Given the description of an element on the screen output the (x, y) to click on. 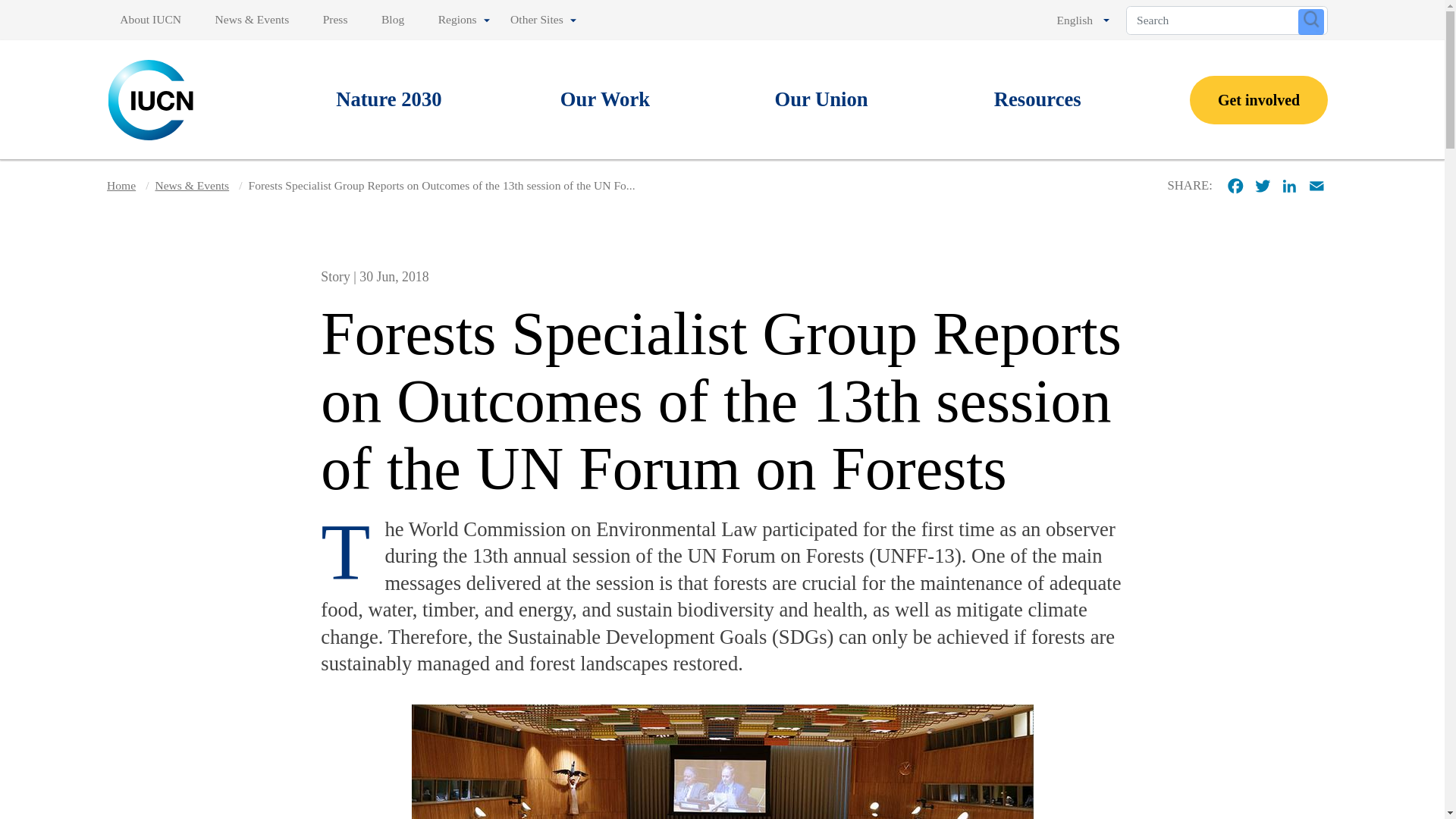
Nature 2030 (389, 99)
Blog (393, 20)
About IUCN (152, 20)
Press (334, 20)
Home (151, 99)
